Given the description of an element on the screen output the (x, y) to click on. 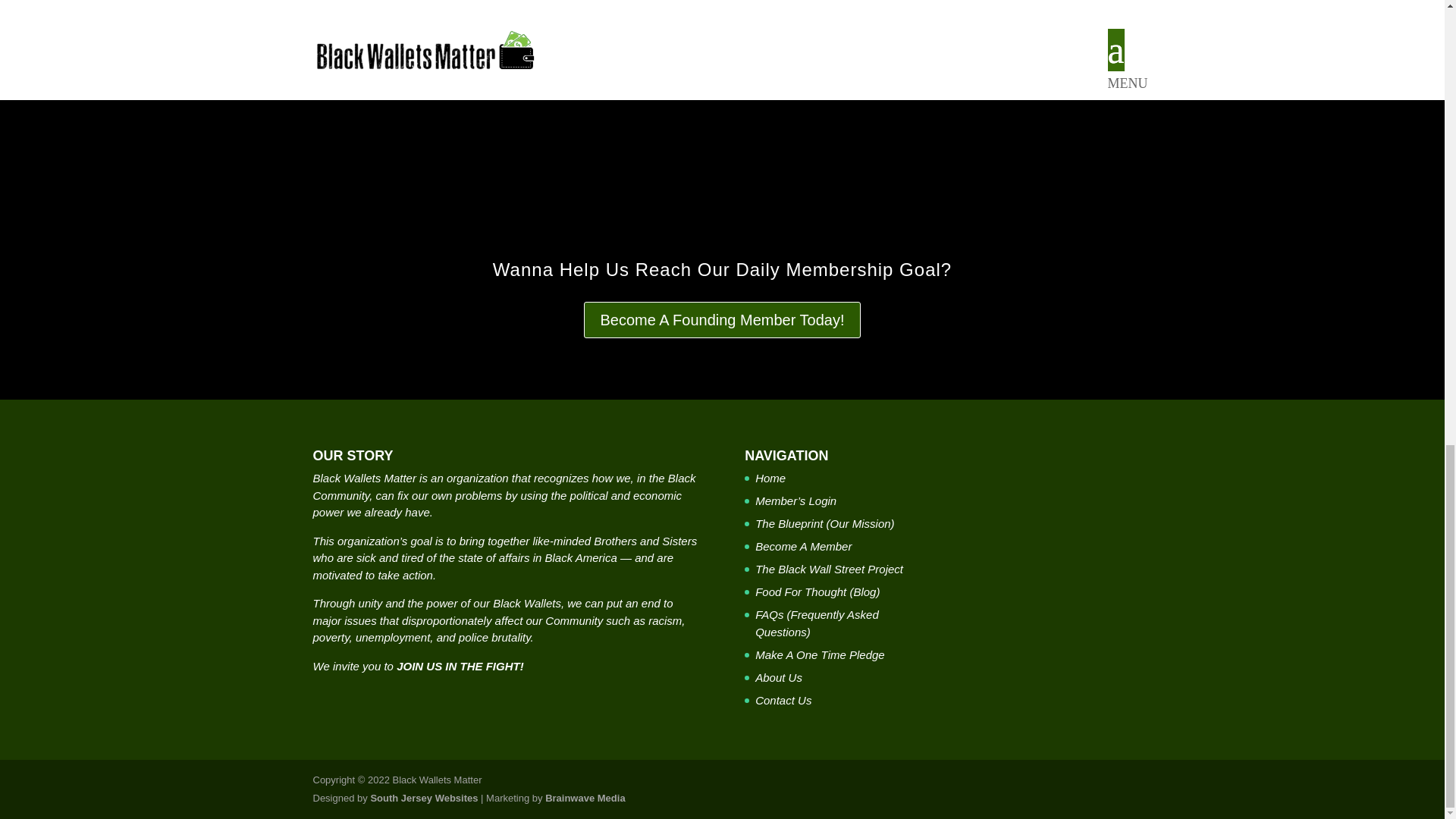
About Us (778, 676)
Become A Founding Member Today! (721, 320)
Contact Us (782, 699)
Home (770, 477)
The Black Wall Street Project (828, 568)
South Jersey Websites (423, 797)
Become A Member (803, 545)
Make A One Time Pledge (820, 654)
Brainwave Media (585, 797)
